Given the description of an element on the screen output the (x, y) to click on. 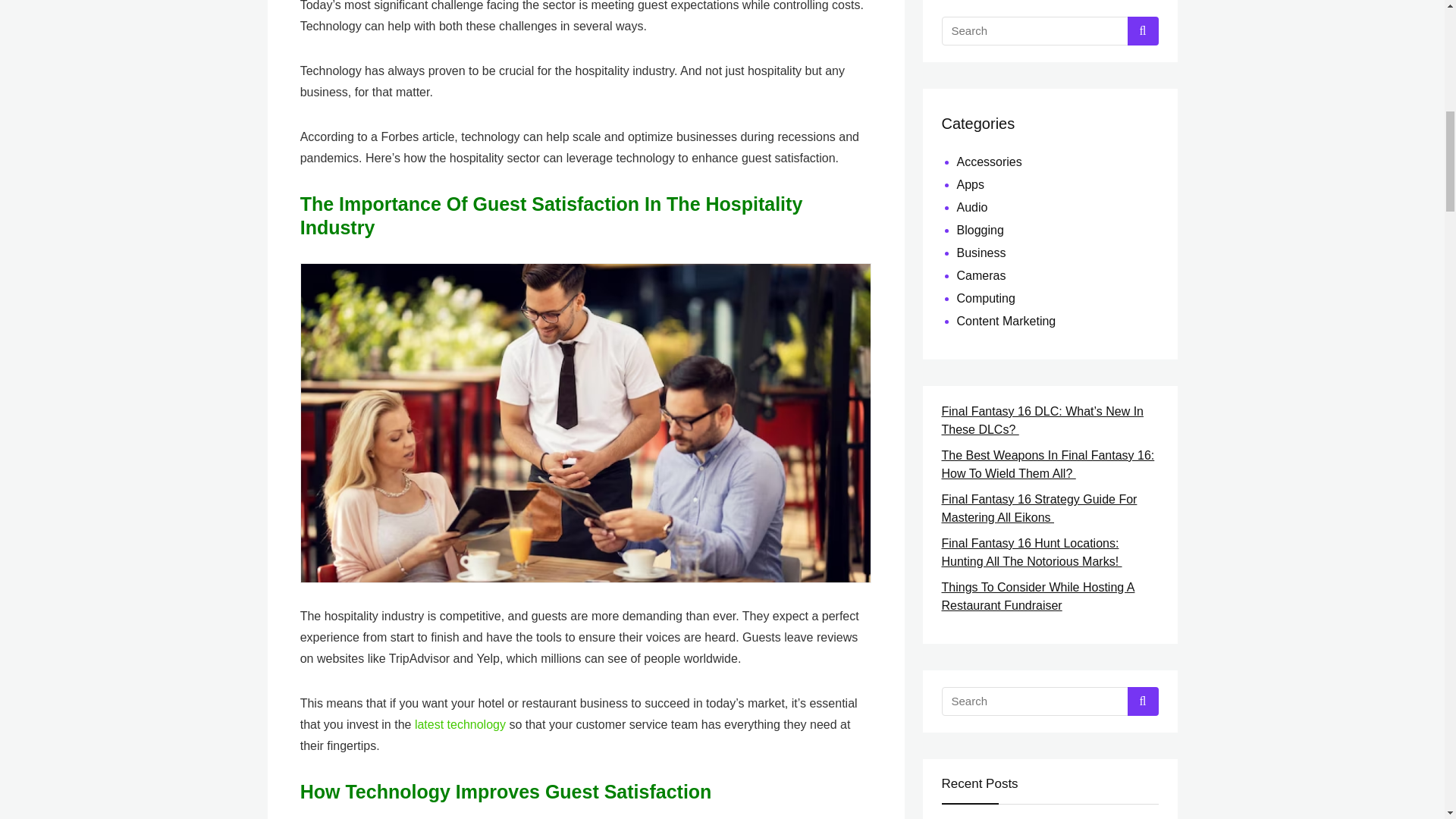
latest technology (459, 724)
